Given the description of an element on the screen output the (x, y) to click on. 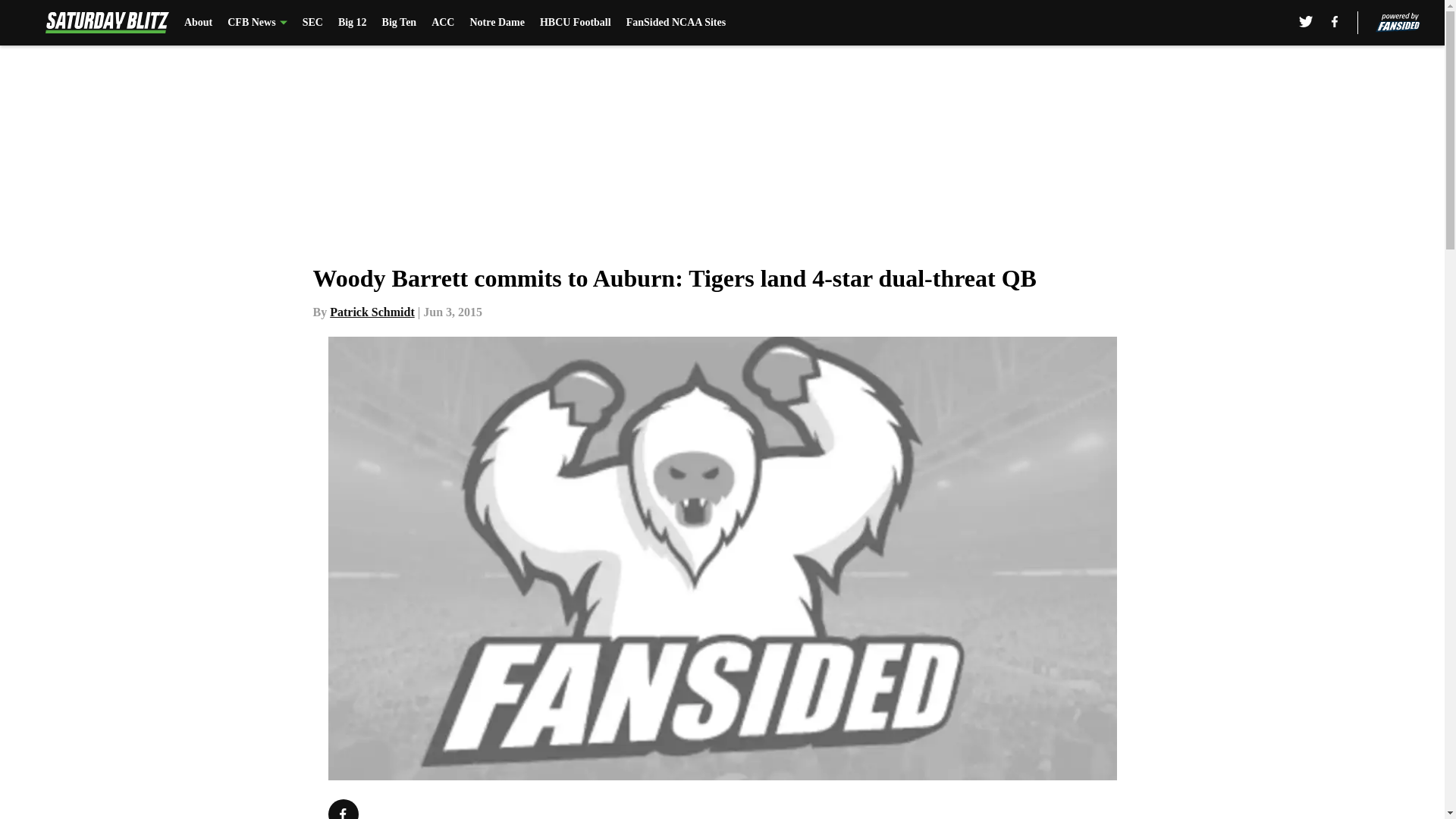
SEC (312, 22)
FanSided NCAA Sites (675, 22)
Patrick Schmidt (372, 311)
Notre Dame (496, 22)
Big 12 (351, 22)
About (198, 22)
Big Ten (398, 22)
HBCU Football (575, 22)
ACC (442, 22)
